Given the description of an element on the screen output the (x, y) to click on. 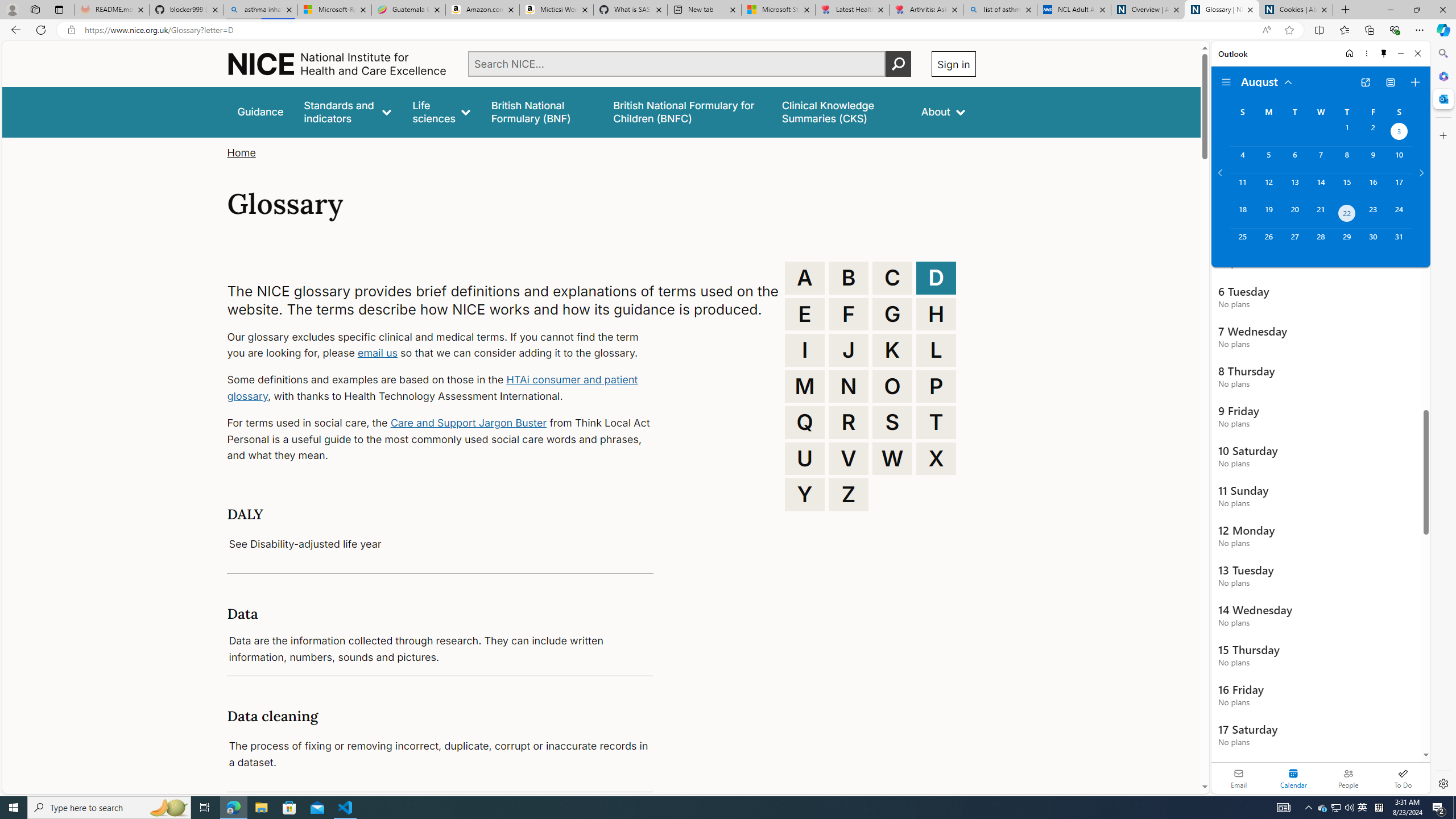
list of asthma inhalers uk - Search (1000, 9)
About (942, 111)
X (935, 458)
O (892, 385)
Z (848, 494)
Tuesday, August 27, 2024.  (1294, 241)
B (848, 277)
Saturday, August 3, 2024. Date selected.  (1399, 132)
Monday, August 5, 2024.  (1268, 159)
Home (241, 152)
Monday, August 26, 2024.  (1268, 241)
email us (376, 353)
Side bar (1443, 418)
